Given the description of an element on the screen output the (x, y) to click on. 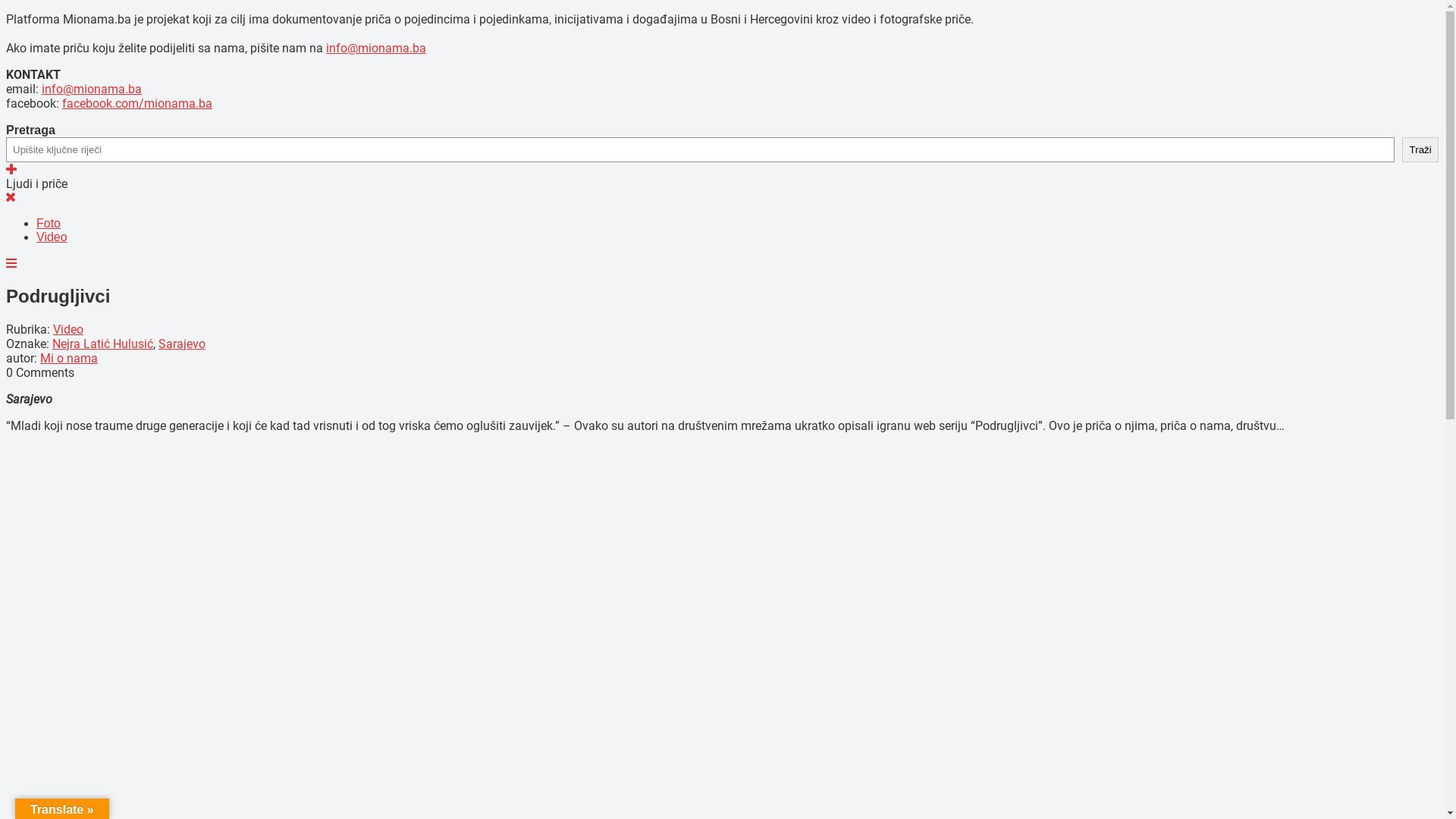
info@mionama.ba Element type: text (376, 47)
Mi o nama Element type: text (68, 358)
Sarajevo Element type: text (181, 343)
Skip to content Element type: text (5, 190)
Foto Element type: text (48, 222)
facebook.com/mionama.ba Element type: text (137, 103)
Video Element type: text (51, 236)
info@mionama.ba Element type: text (91, 88)
Video Element type: text (68, 329)
